Given the description of an element on the screen output the (x, y) to click on. 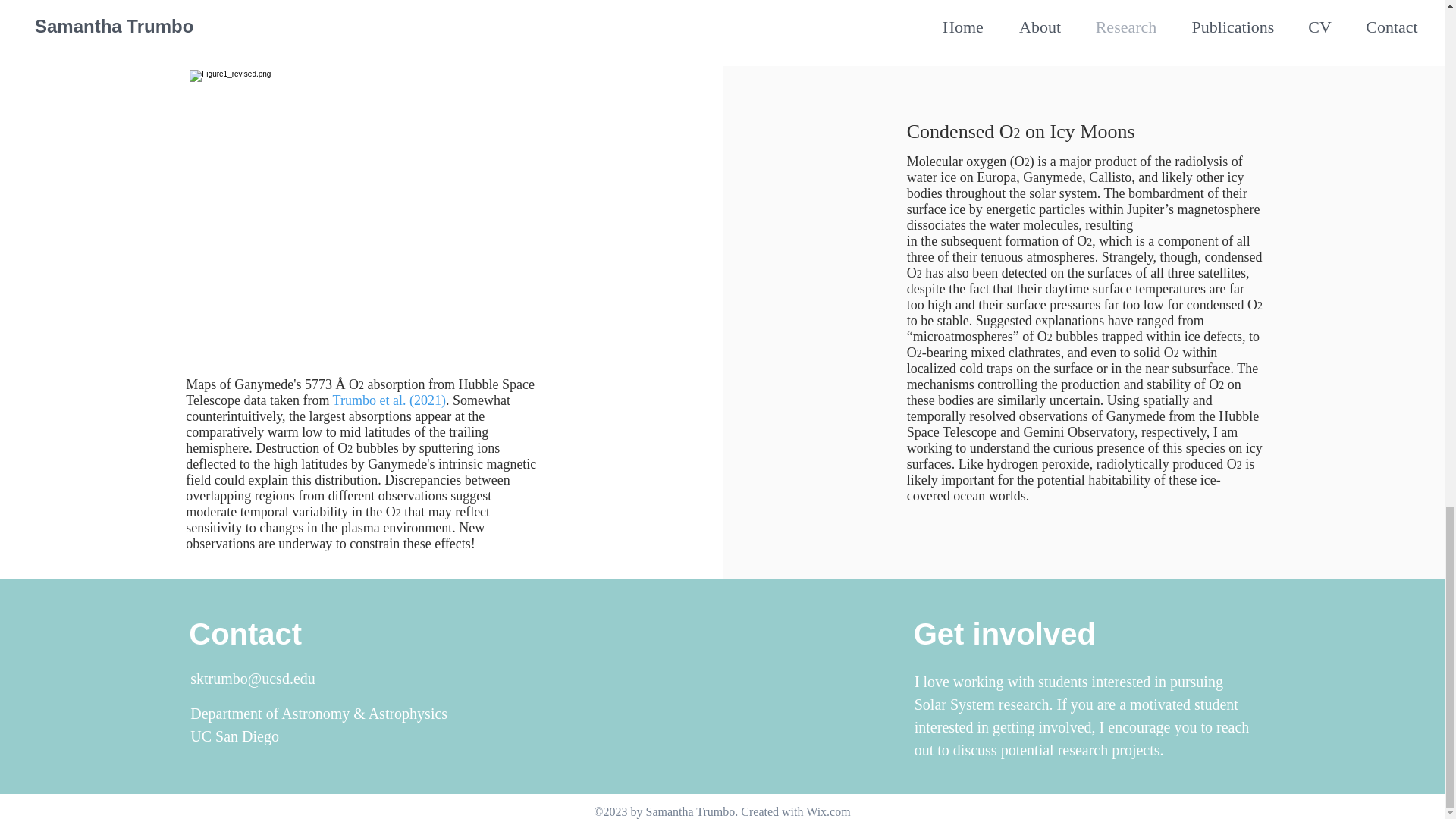
Wix.com (828, 811)
